Given the description of an element on the screen output the (x, y) to click on. 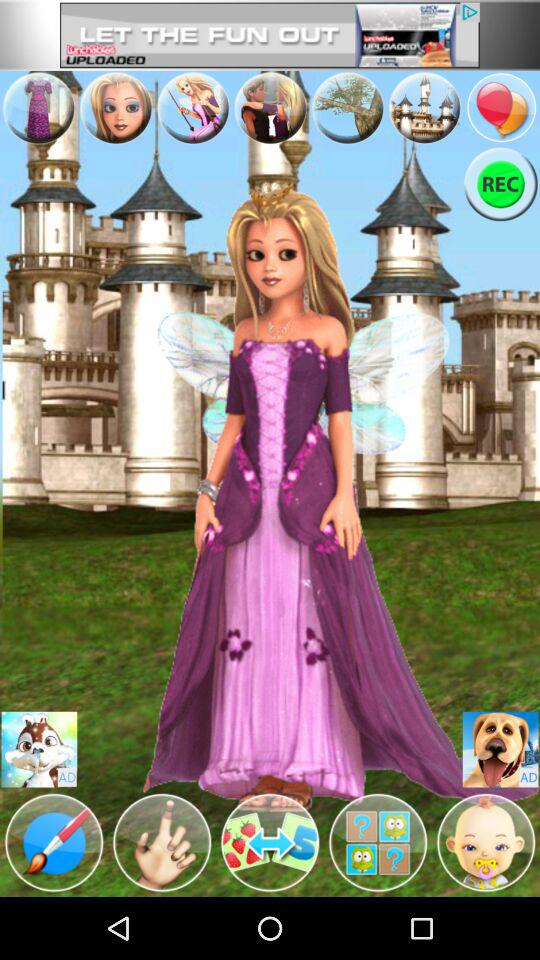
click to fun option (38, 107)
